Given the description of an element on the screen output the (x, y) to click on. 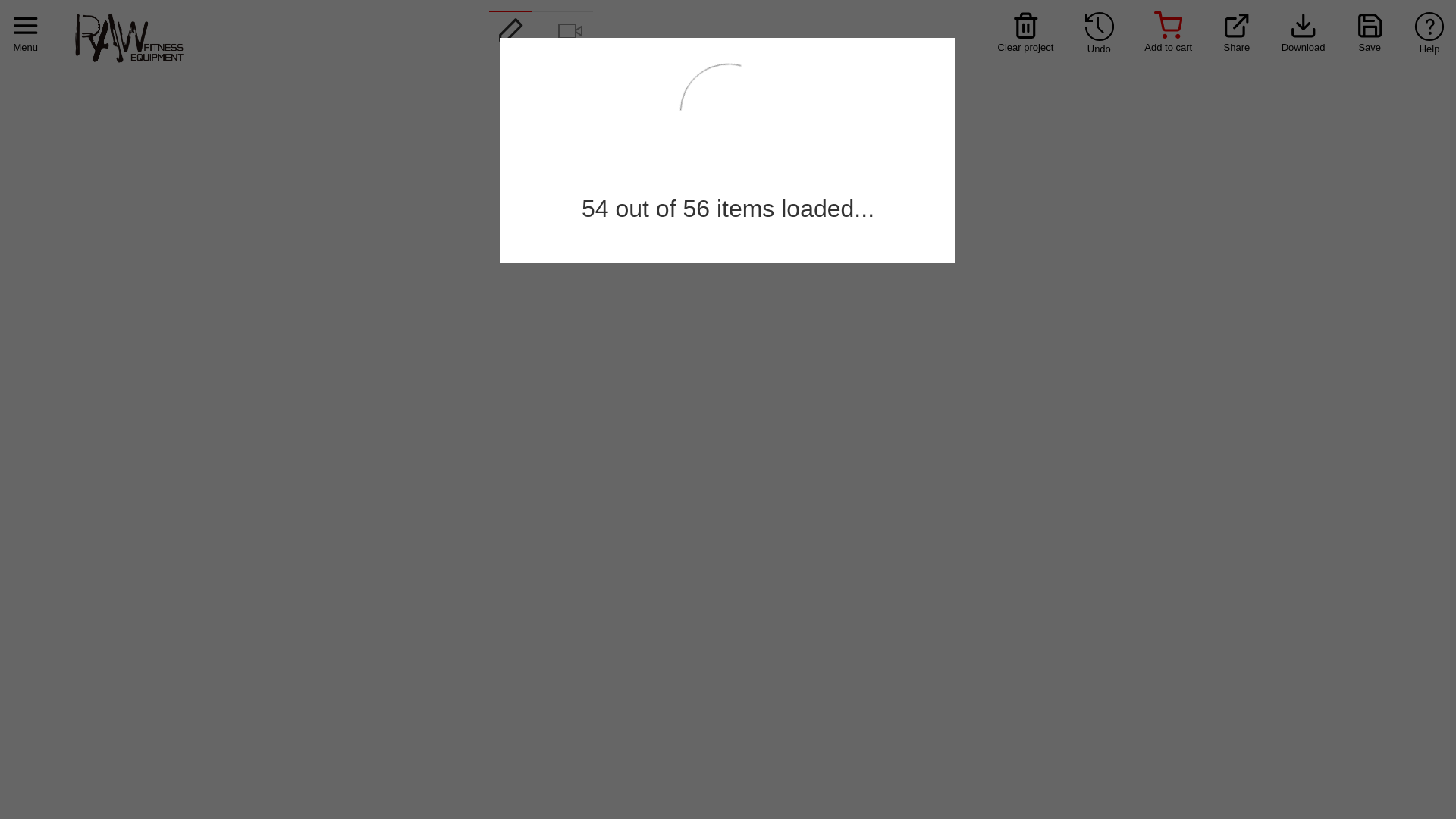
menu Element type: text (25, 25)
external-link Element type: text (1236, 25)
save Element type: text (1369, 25)
download Element type: text (1303, 25)
EDIT-2 Element type: text (511, 29)
shopping-cart Element type: text (1168, 25)
